Given the description of an element on the screen output the (x, y) to click on. 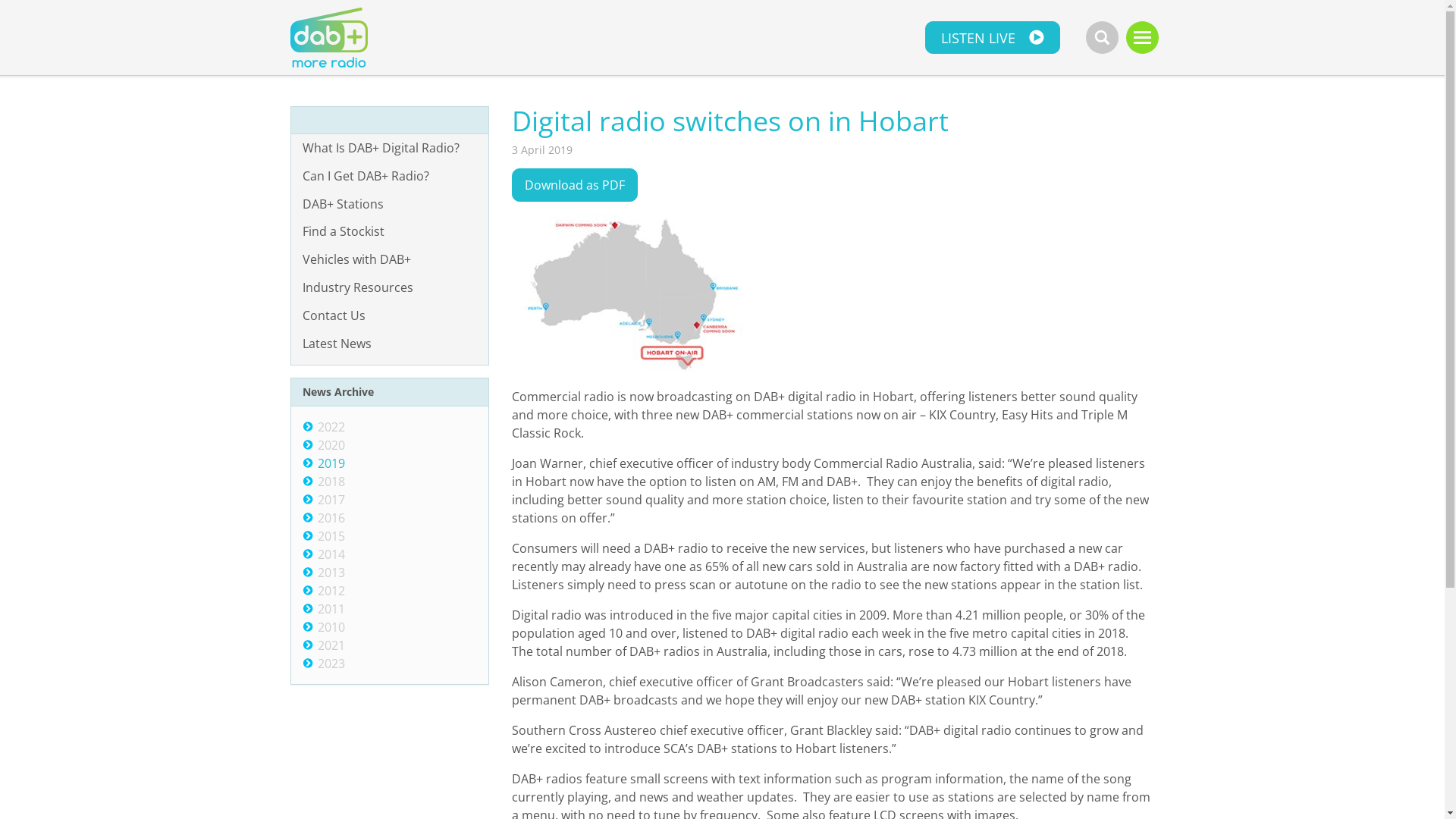
Download as PDF Element type: text (574, 184)
2021 Element type: text (330, 645)
2011 Element type: text (330, 608)
2016 Element type: text (330, 517)
Find a Stockist Element type: text (390, 231)
Contact Us Element type: text (390, 315)
Can I Get DAB+ Radio? Element type: text (390, 176)
2019 Element type: text (330, 463)
2018 Element type: text (330, 481)
Latest News Element type: text (390, 343)
2023 Element type: text (330, 663)
2014 Element type: text (330, 554)
2010 Element type: text (330, 626)
2013 Element type: text (330, 572)
Site Search Element type: text (1101, 37)
2012 Element type: text (330, 590)
2022 Element type: text (330, 426)
2017 Element type: text (330, 499)
Toggle navigation Element type: text (1141, 37)
DAB+ Stations Element type: text (390, 204)
What Is DAB+ Digital Radio? Element type: text (390, 148)
LISTEN LIVE Element type: text (992, 37)
2015 Element type: text (330, 535)
2020 Element type: text (330, 444)
Vehicles with DAB+ Element type: text (390, 259)
Industry Resources Element type: text (390, 287)
